Given the description of an element on the screen output the (x, y) to click on. 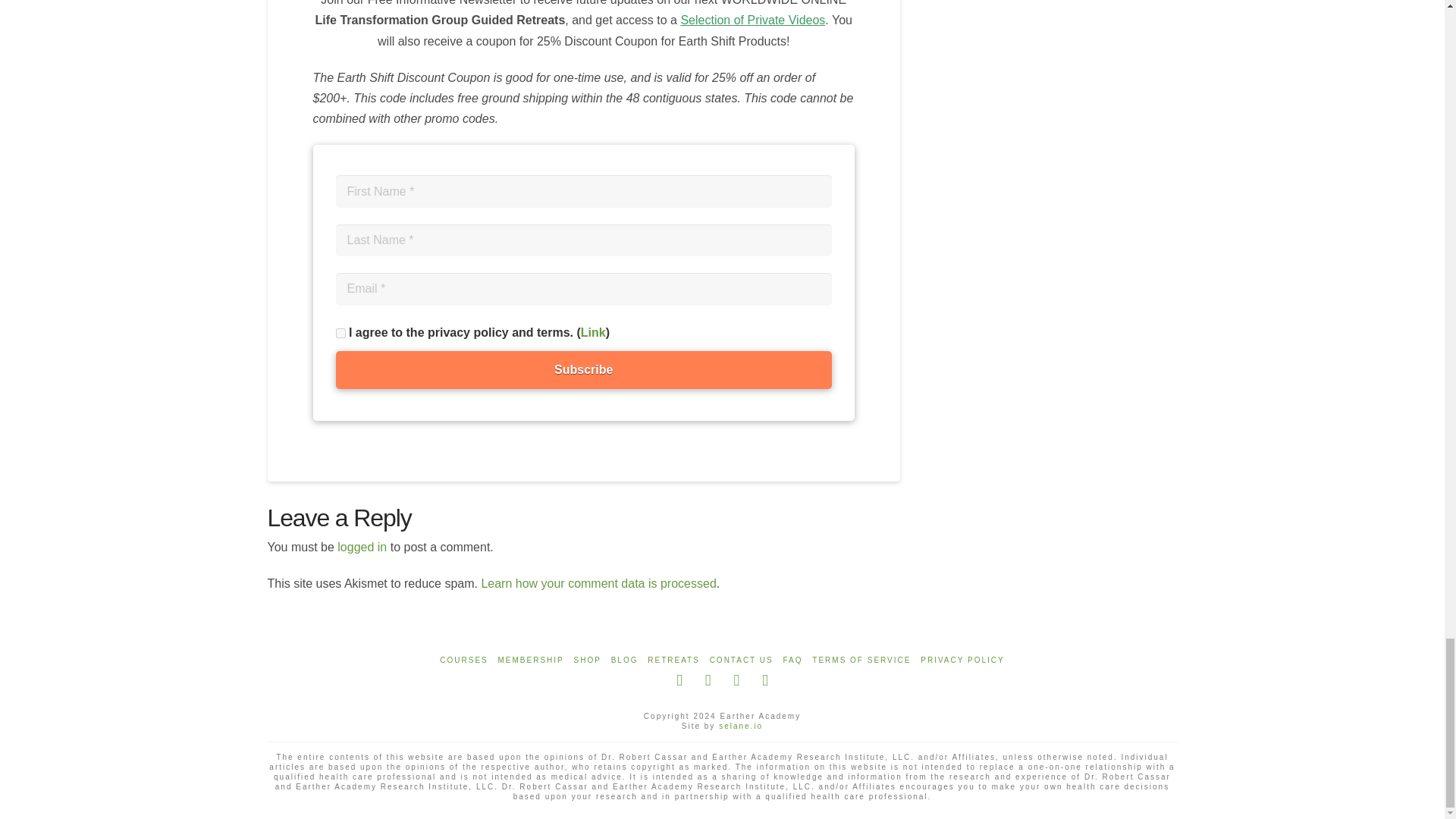
1 (339, 333)
Subscribe (582, 370)
selane.io (740, 725)
